Given the description of an element on the screen output the (x, y) to click on. 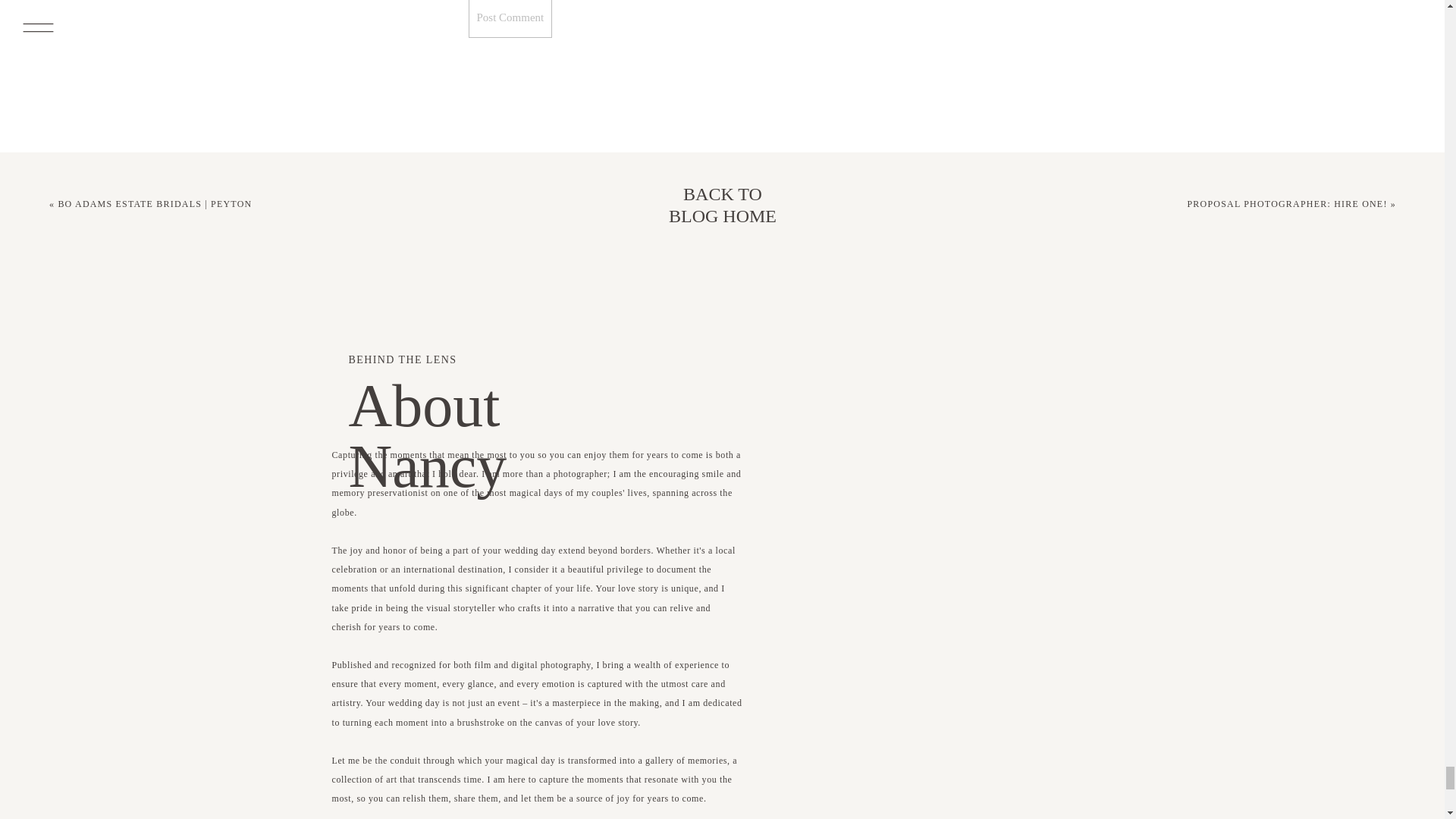
BACK TO BLOG HOME (722, 204)
Post Comment (510, 18)
Post Comment (510, 18)
PROPOSAL PHOTOGRAPHER: HIRE ONE! (1287, 204)
